Given the description of an element on the screen output the (x, y) to click on. 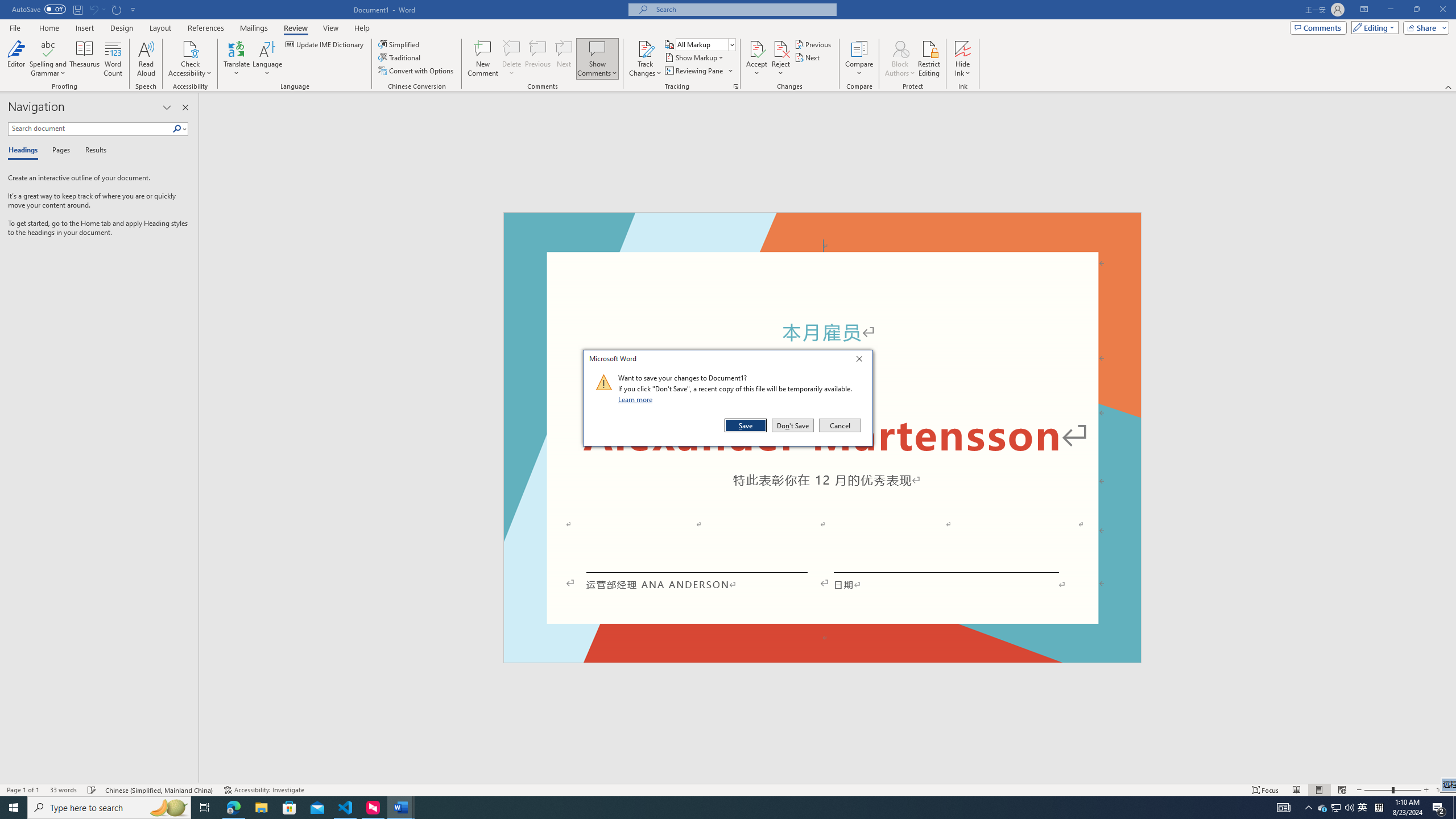
Notification Chevron (1308, 807)
Read Mode (1296, 790)
Compare (859, 58)
Repeat Shrink Font (117, 9)
Tray Input Indicator - Chinese (Simplified, China) (1378, 807)
Share (1423, 27)
Collapse the Ribbon (1448, 86)
Results (91, 150)
Class: MsoCommandBar (728, 789)
Save (746, 425)
Change Tracking Options... (735, 85)
Action Center, 2 new notifications (1439, 807)
Search document (89, 128)
